Given the description of an element on the screen output the (x, y) to click on. 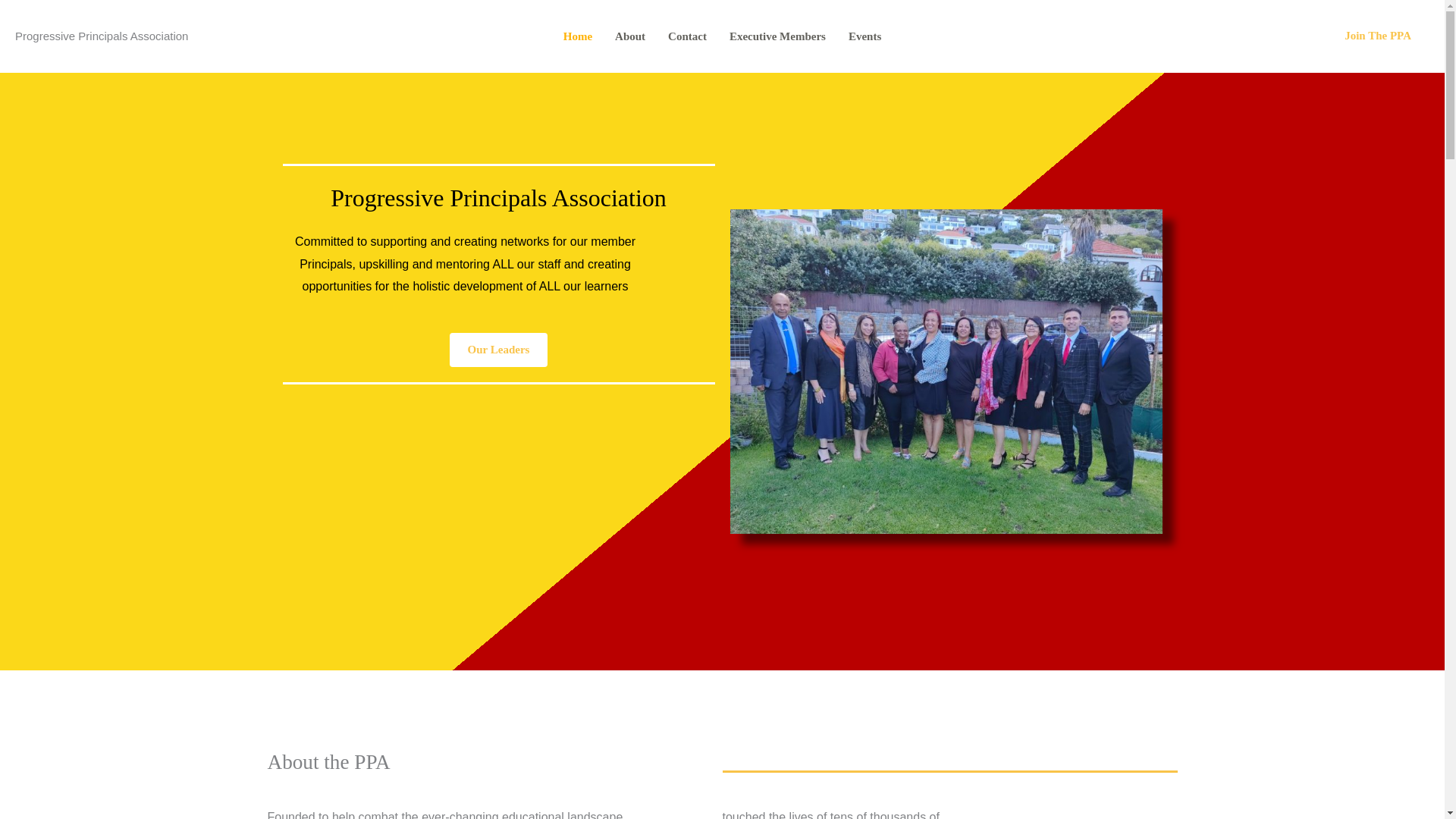
Contact (686, 36)
Home (577, 36)
About (630, 36)
Join The PPA (1377, 36)
Events (864, 36)
Executive Members (777, 36)
Our Leaders (498, 349)
